Given the description of an element on the screen output the (x, y) to click on. 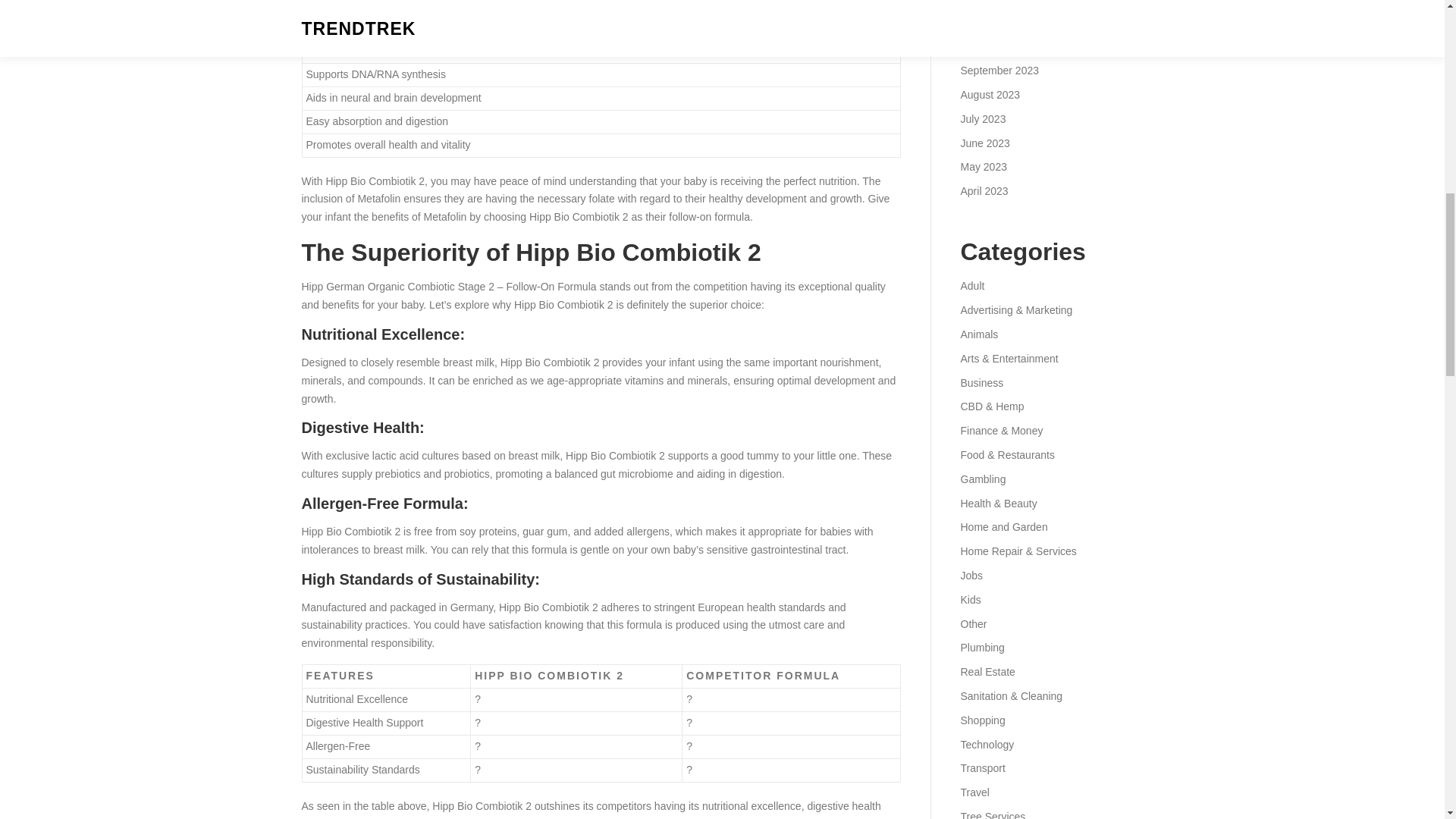
October 2023 (992, 46)
April 2023 (983, 191)
June 2023 (984, 143)
November 2023 (997, 22)
December 2023 (997, 2)
August 2023 (989, 94)
May 2023 (982, 166)
September 2023 (999, 70)
July 2023 (982, 119)
Business (981, 382)
